Given the description of an element on the screen output the (x, y) to click on. 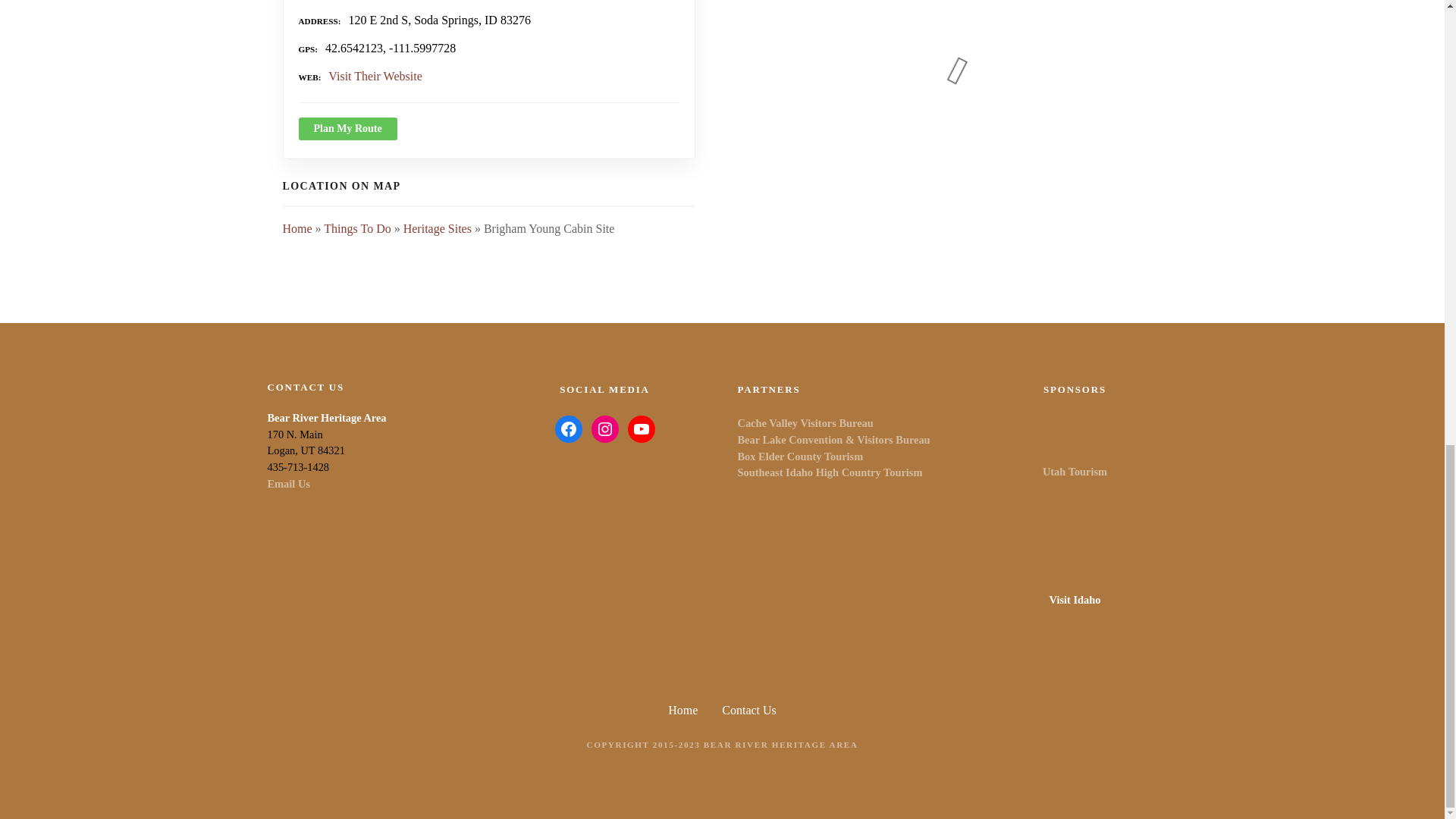
Email Us (287, 483)
Home (296, 228)
Plan My Route (347, 128)
Visit Their Website (375, 75)
Things To Do (356, 228)
Heritage Sites (437, 228)
